Given the description of an element on the screen output the (x, y) to click on. 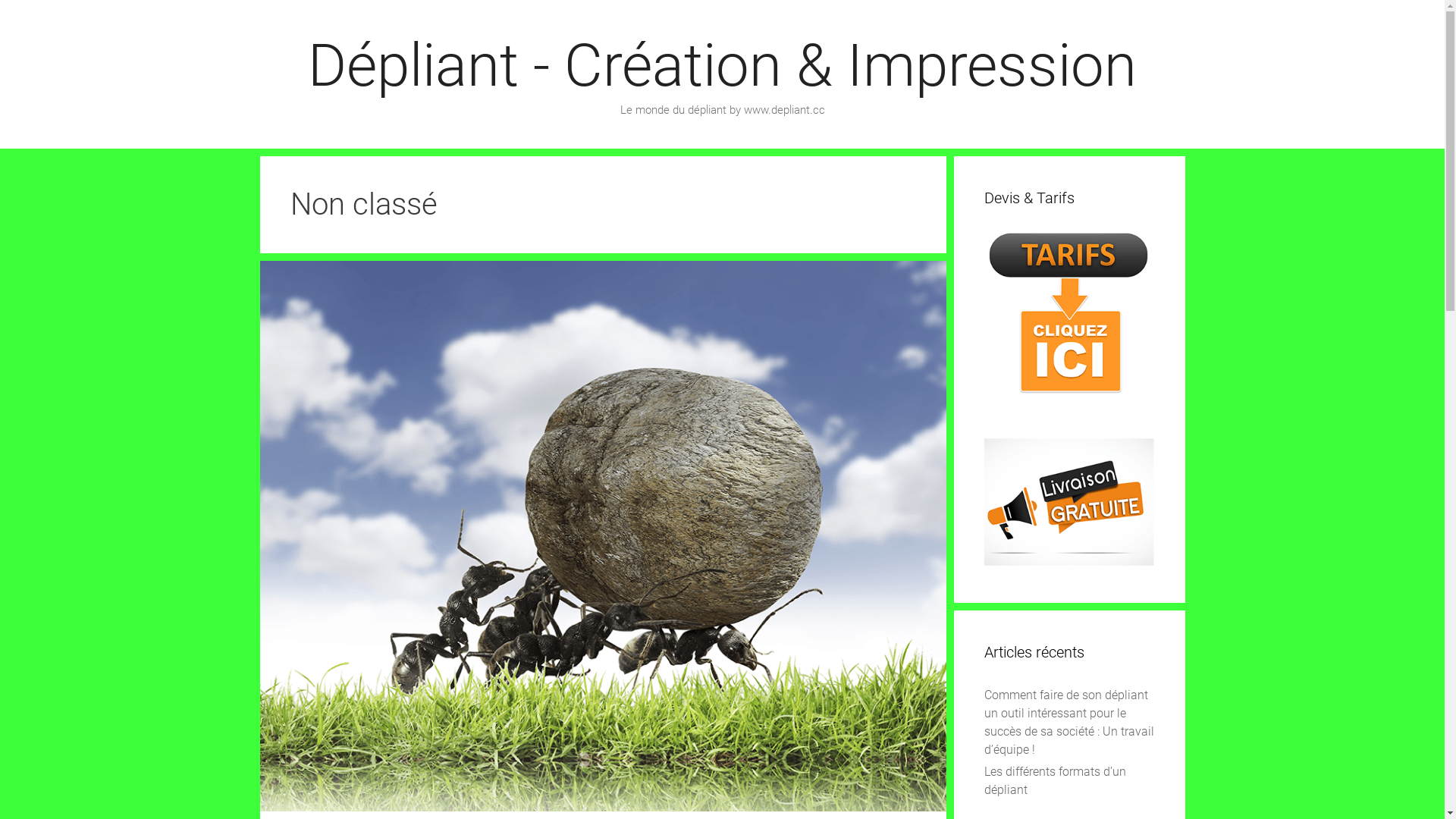
Rechercher Element type: text (44, 17)
